Given the description of an element on the screen output the (x, y) to click on. 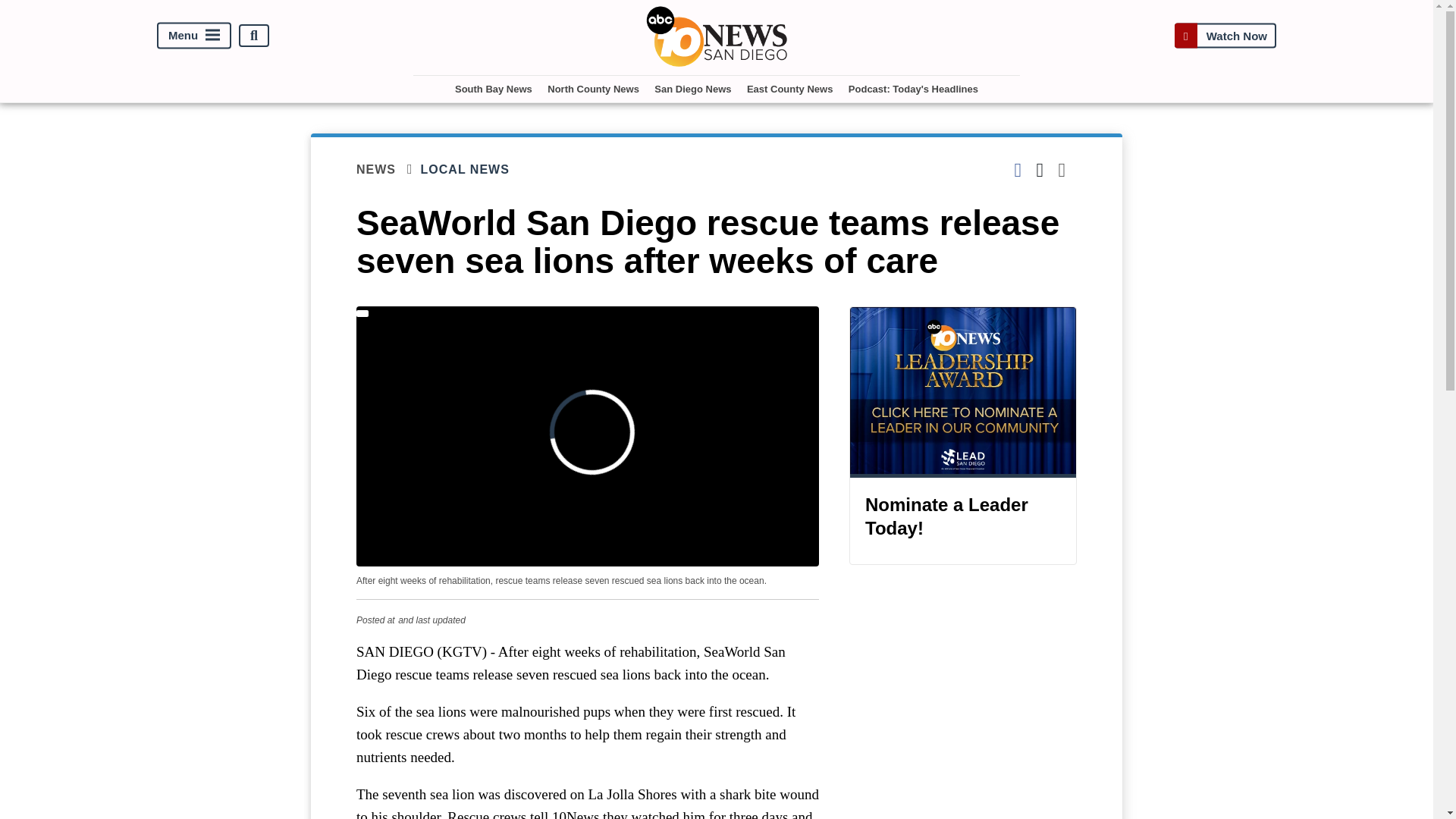
Watch Now (1224, 35)
Menu (194, 35)
